Given the description of an element on the screen output the (x, y) to click on. 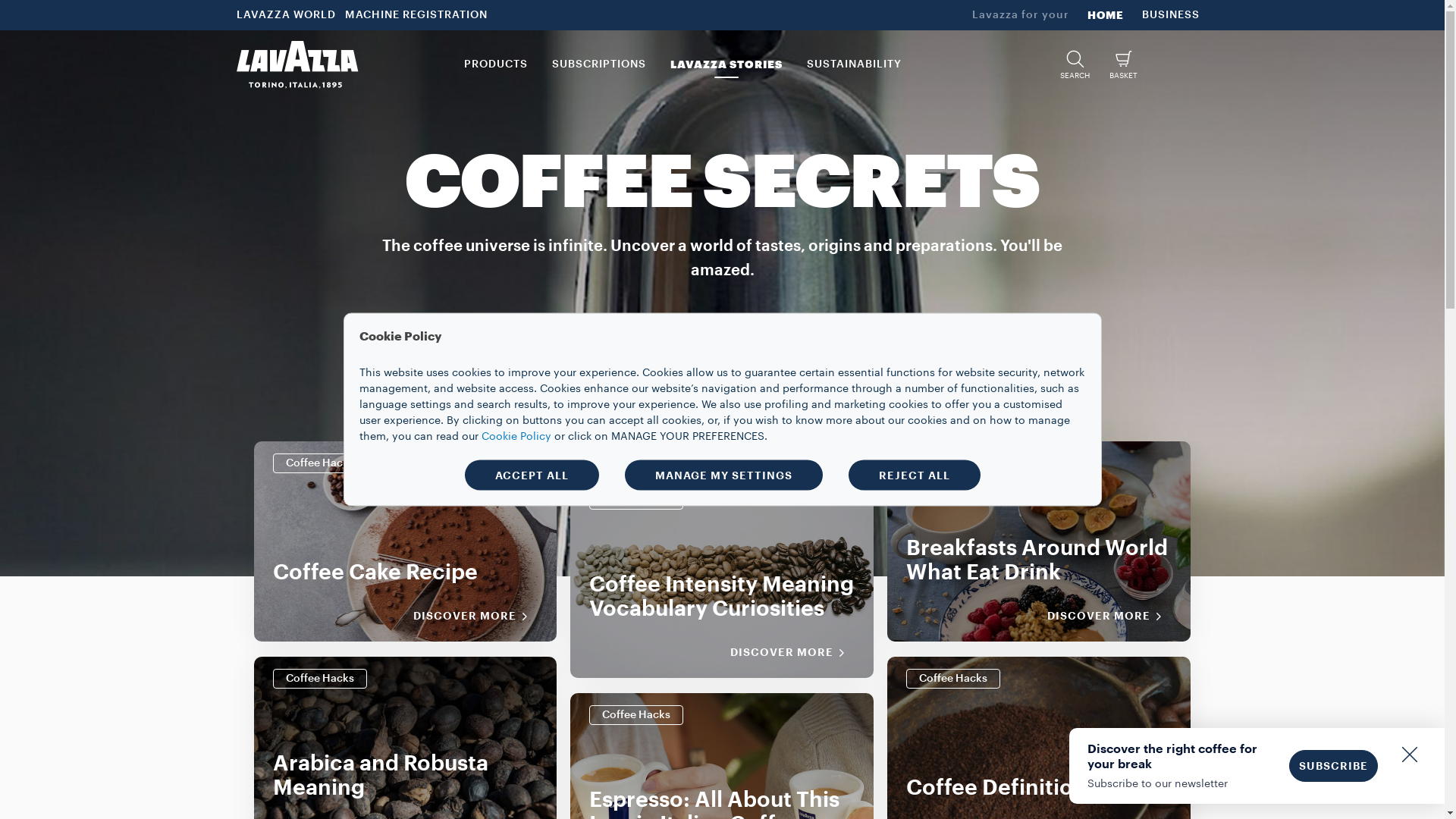
SUSTAINABILITY Element type: text (853, 64)
LAVAZZA WORLD Element type: text (288, 14)
SUBSCRIBE Element type: text (1333, 765)
REJECT ALL Element type: text (913, 474)
DISCOVER MORE Element type: text (1109, 615)
DISCOVER MORE Element type: text (475, 615)
HOME Element type: text (1105, 14)
BASKET Element type: text (1123, 64)
MACHINE REGISTRATION Element type: text (417, 14)
ACCEPT ALL Element type: text (531, 474)
DISCOVER MORE Element type: text (792, 652)
LAVAZZA STORIES Element type: text (726, 64)
BUSINESS Element type: text (1170, 14)
Cookie Policy Element type: text (515, 435)
MANAGE MY SETTINGS Element type: text (723, 474)
SEARCH Element type: text (1075, 64)
SUBSCRIPTIONS Element type: text (599, 64)
PRODUCTS Element type: text (495, 64)
